Given the description of an element on the screen output the (x, y) to click on. 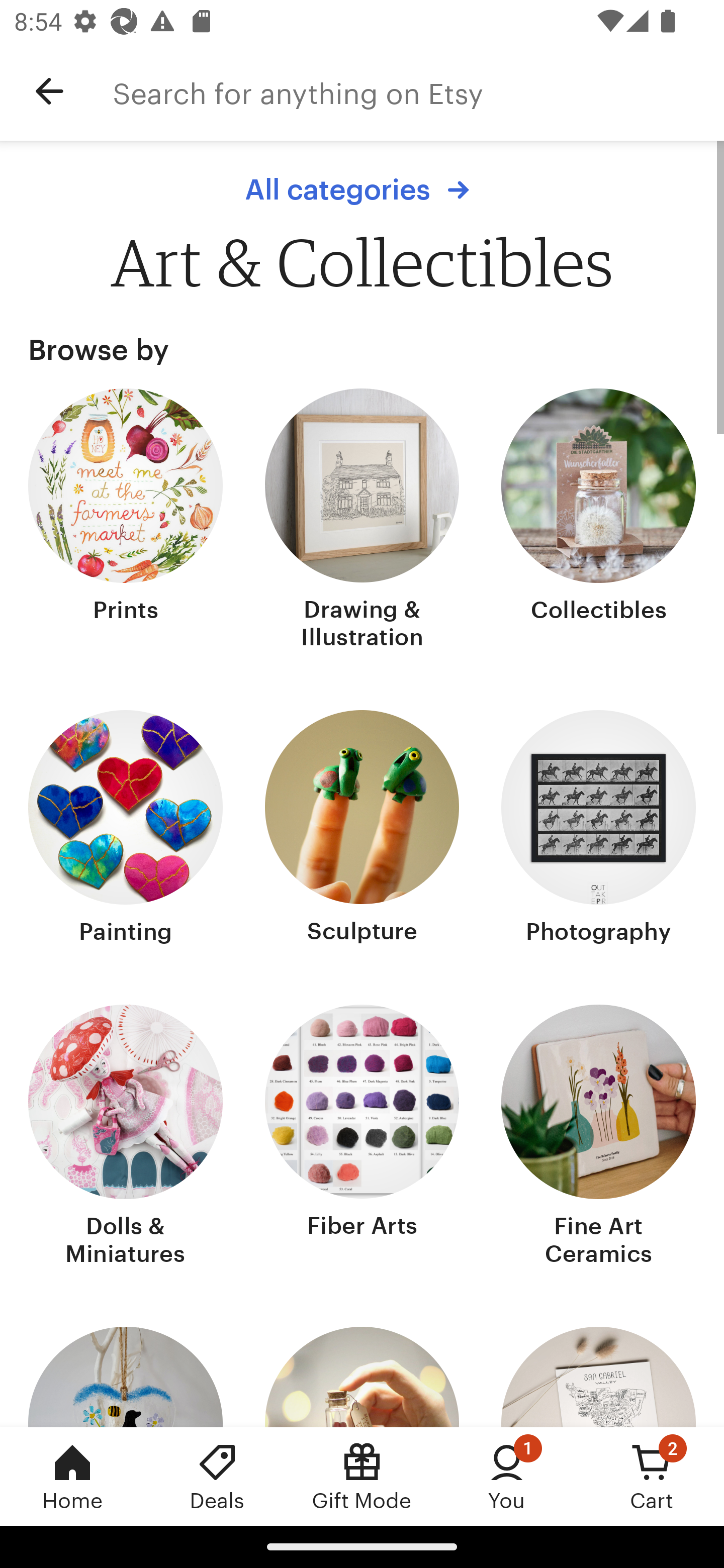
Navigate up (49, 91)
Search for anything on Etsy (418, 91)
All categories (361, 189)
Prints (125, 520)
Drawing & Illustration (361, 520)
Collectibles (598, 520)
Painting (125, 829)
Sculpture (361, 829)
Photography (598, 829)
Dolls & Miniatures (125, 1137)
Fiber Arts (361, 1137)
Fine Art Ceramics (598, 1137)
Deals (216, 1475)
Gift Mode (361, 1475)
You, 1 new notification You (506, 1475)
Cart, 2 new notifications Cart (651, 1475)
